Given the description of an element on the screen output the (x, y) to click on. 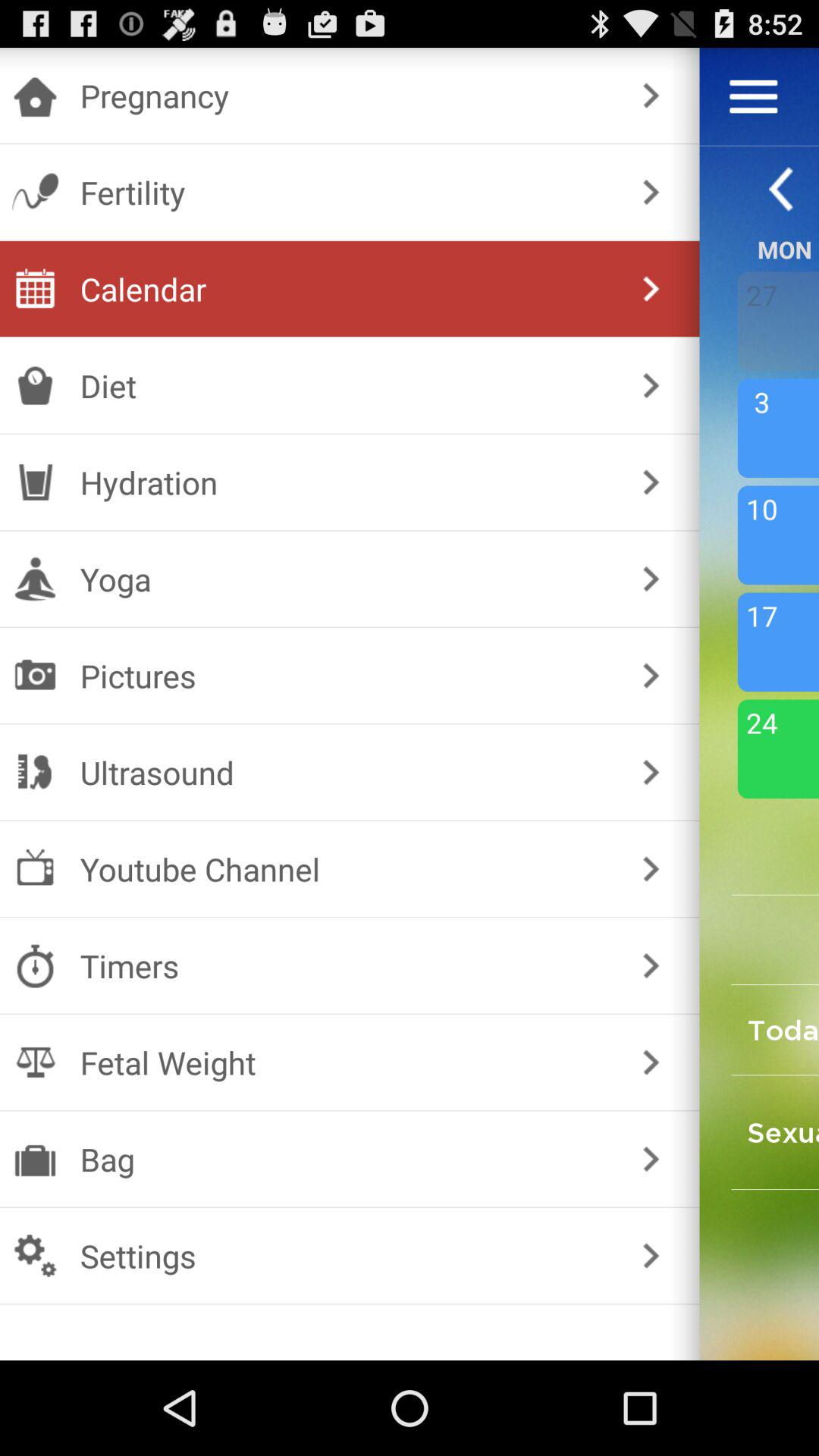
swipe to yoga checkbox (346, 578)
